Given the description of an element on the screen output the (x, y) to click on. 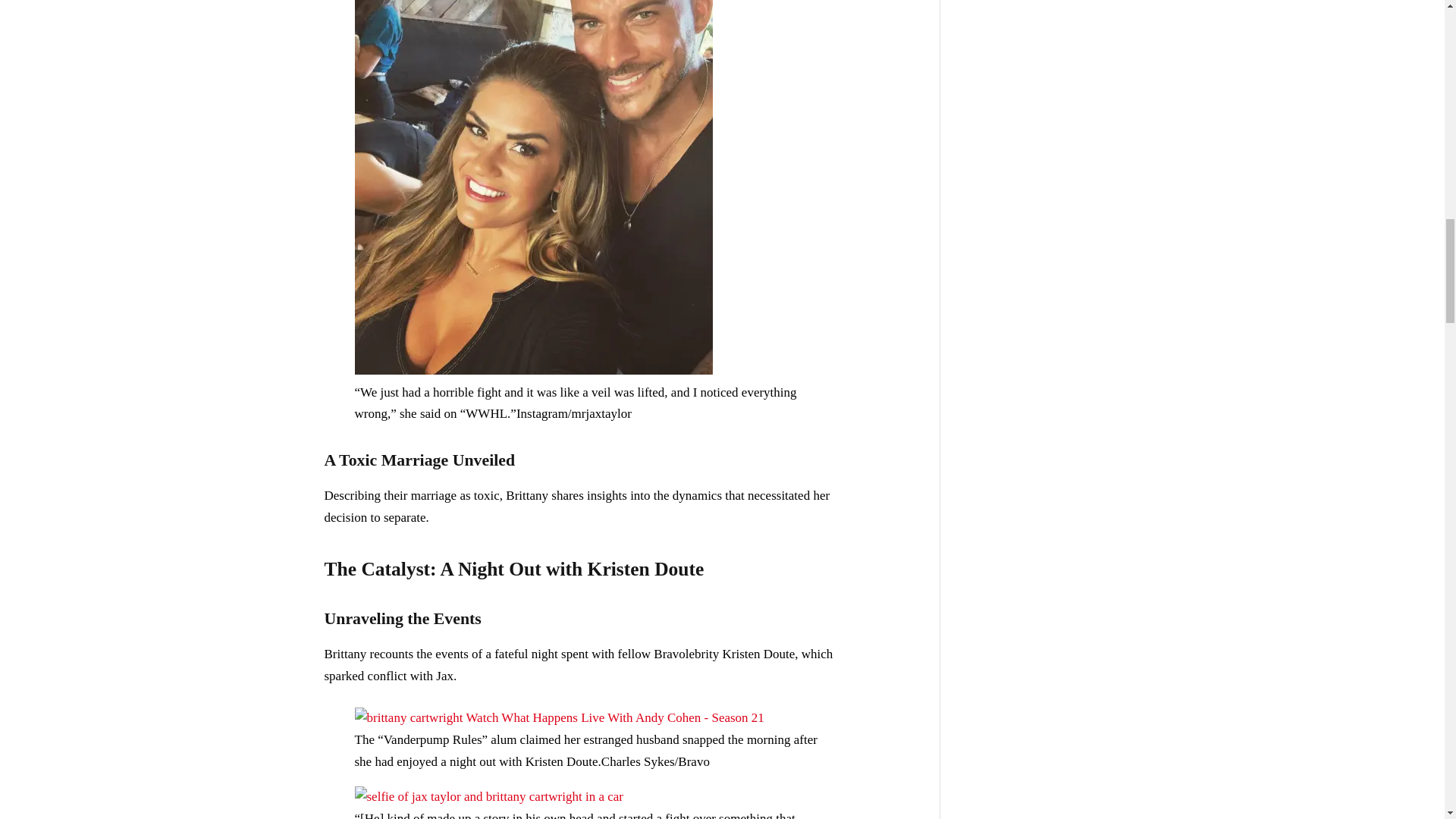
Open a slideshow of all 9 article images. (534, 370)
Open a slideshow of all 9 article images. (559, 717)
